Given the description of an element on the screen output the (x, y) to click on. 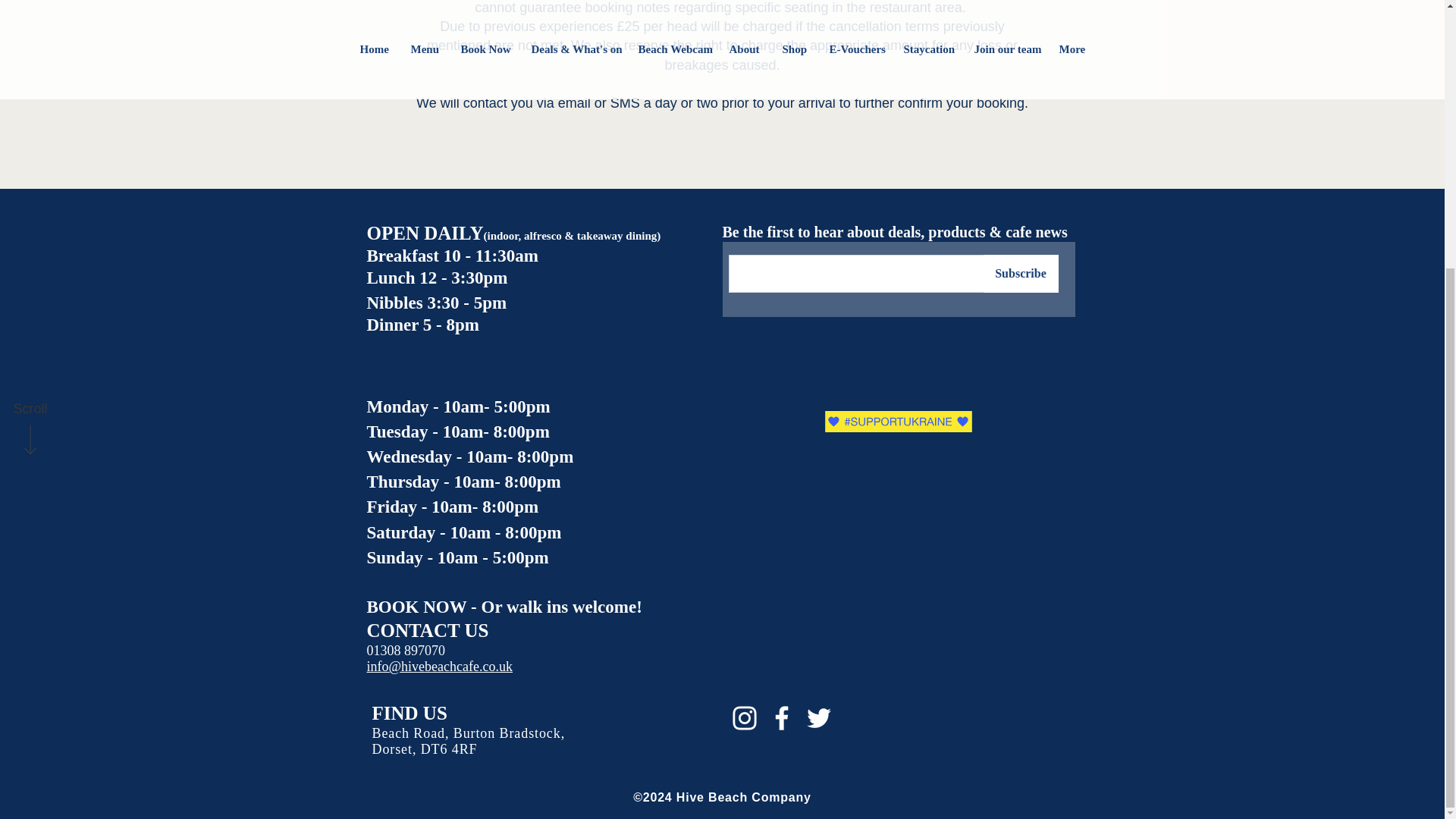
Subscribe (1020, 273)
Scroll (29, 18)
